Given the description of an element on the screen output the (x, y) to click on. 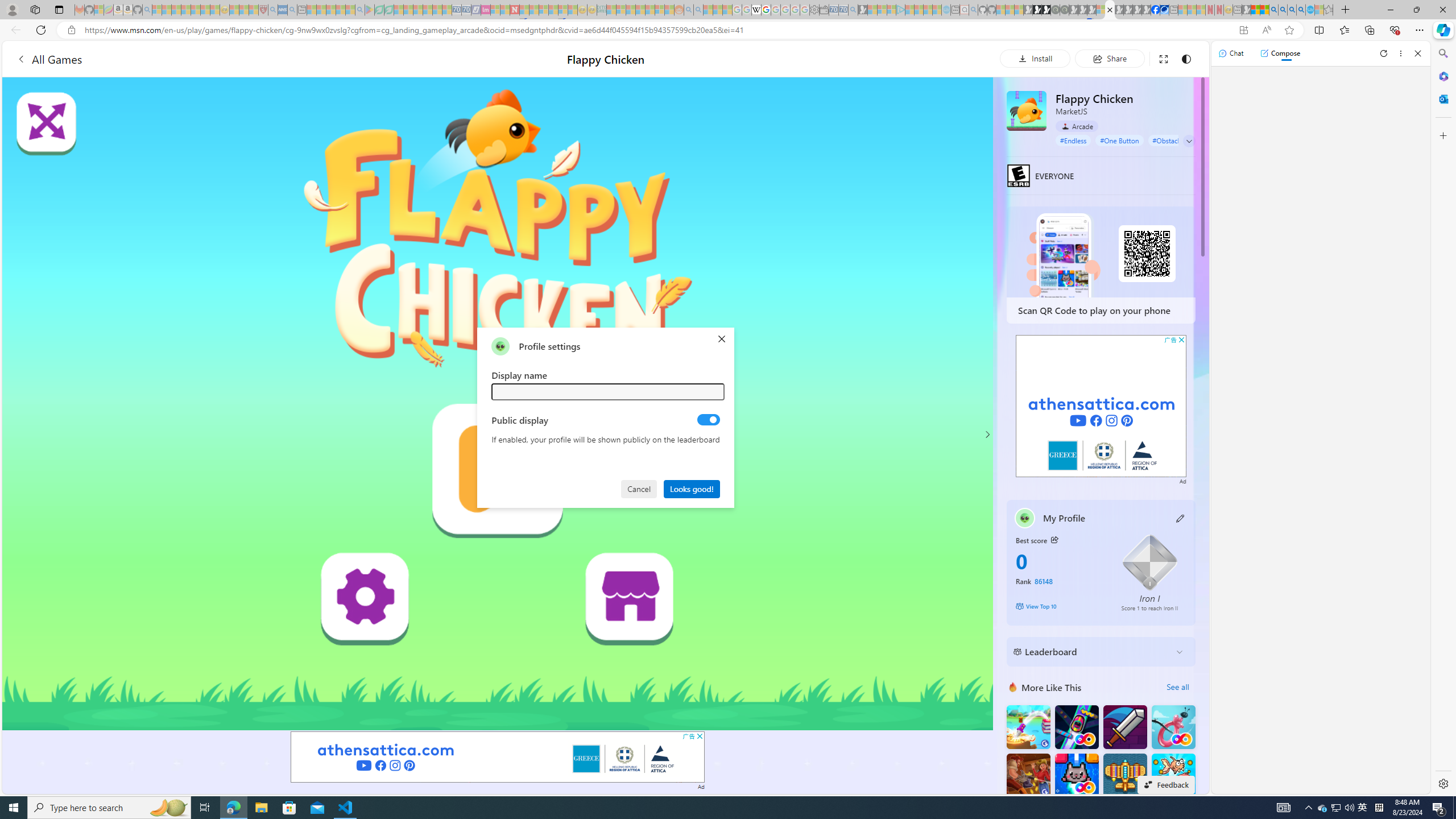
Leaderboard (1091, 651)
Class: expand-arrow neutral (1188, 141)
Play Zoo Boom in your browser | Games from Microsoft Start (1036, 9)
Class: button (1053, 539)
utah sues federal government - Search - Sleeping (291, 9)
Knife Flip (1028, 726)
